Given the description of an element on the screen output the (x, y) to click on. 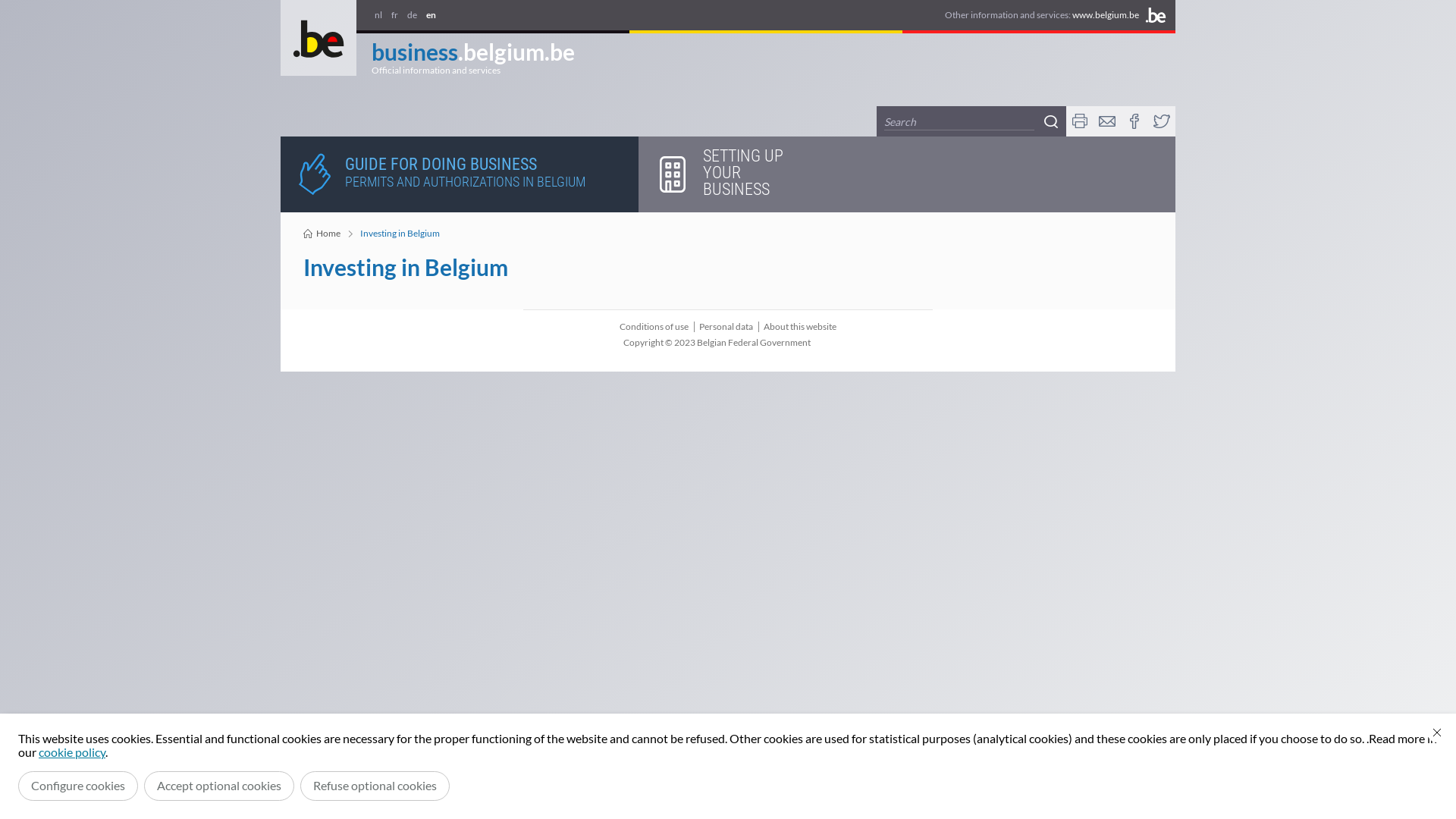
About this website Element type: text (799, 326)
nl Element type: text (378, 15)
fr Element type: text (394, 15)
www.belgium.be Element type: text (1105, 14)
Refuse optional cookies Element type: text (374, 785)
de Element type: text (411, 15)
Search Element type: hover (959, 121)
Accept optional cookies Element type: text (219, 785)
Personal data Element type: text (726, 326)
Configure cookies Element type: text (78, 785)
Apply Element type: text (1050, 121)
en Element type: text (430, 15)
Close Element type: hover (1436, 732)
cookie policy Element type: text (71, 751)
Skip to main content Element type: text (7, 4)
SETTING UP YOUR BUSINESS Element type: text (727, 174)
Conditions of use Element type: text (653, 326)
Home Element type: text (321, 233)
business.belgium.be
Official information and services Element type: text (472, 54)
Back to the Business Belgium homepage Element type: hover (318, 37)
